Given the description of an element on the screen output the (x, y) to click on. 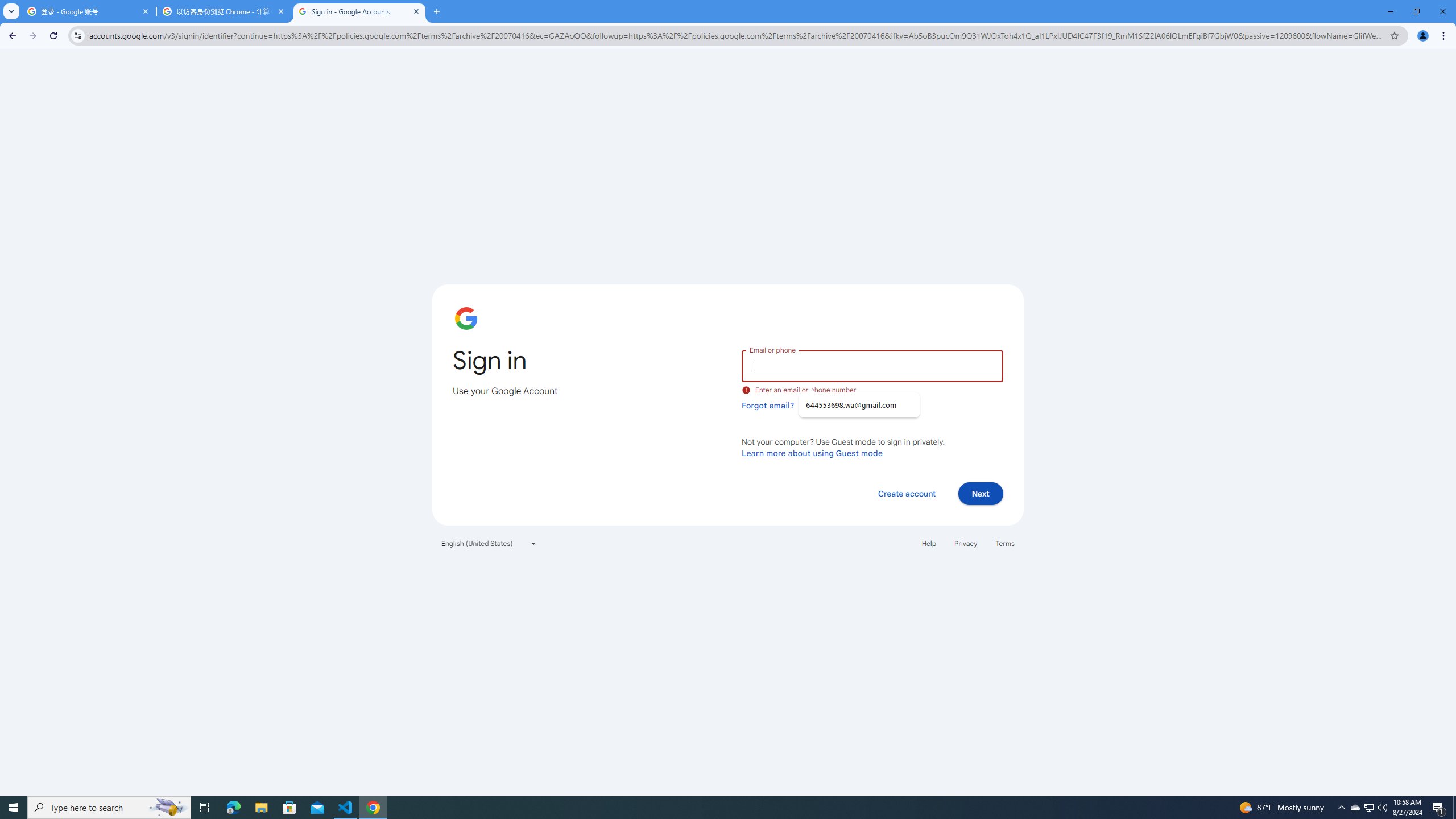
Create account (905, 493)
Forgot email? (767, 404)
